Given the description of an element on the screen output the (x, y) to click on. 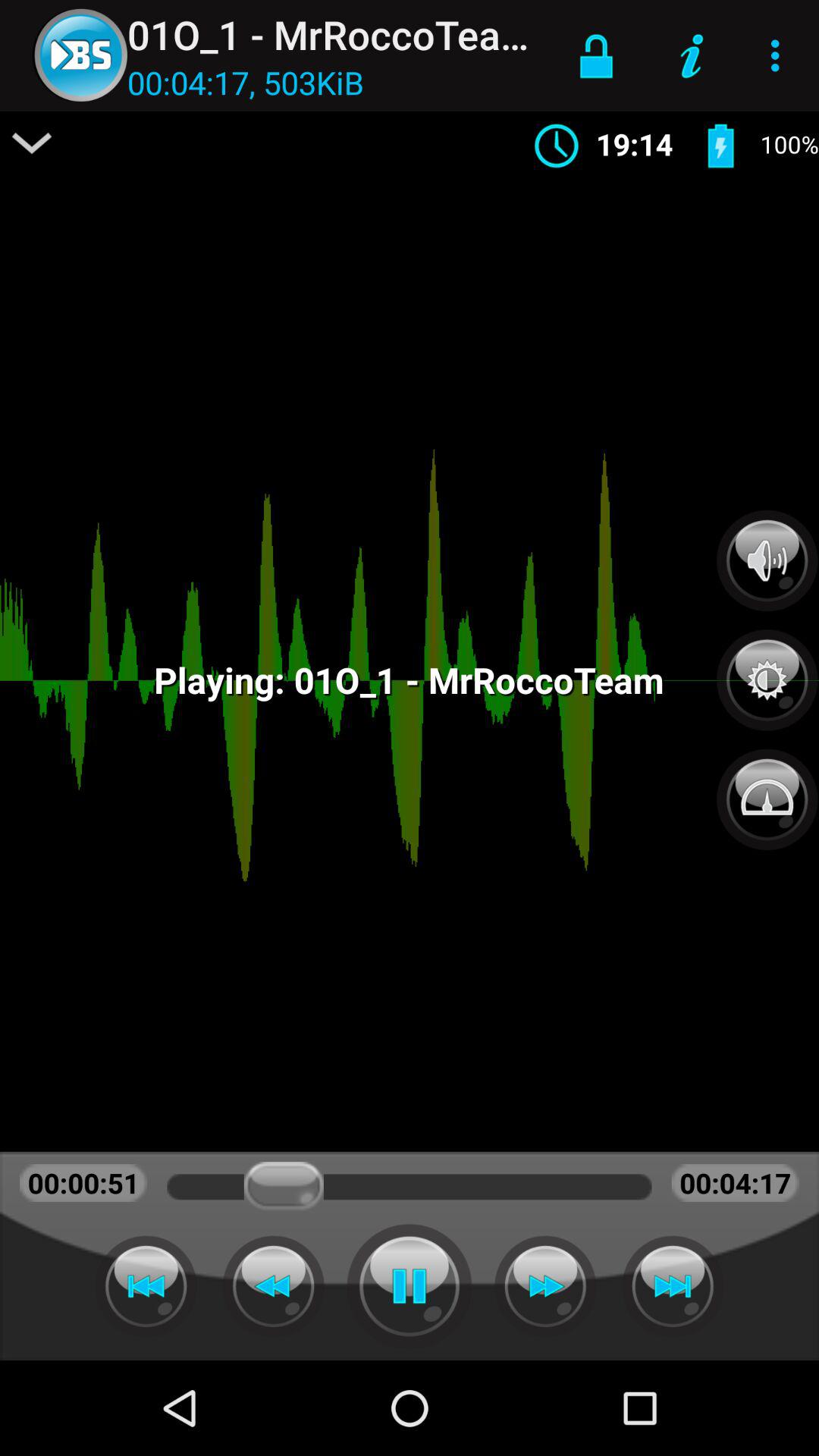
start at beginning of song (145, 1286)
